Given the description of an element on the screen output the (x, y) to click on. 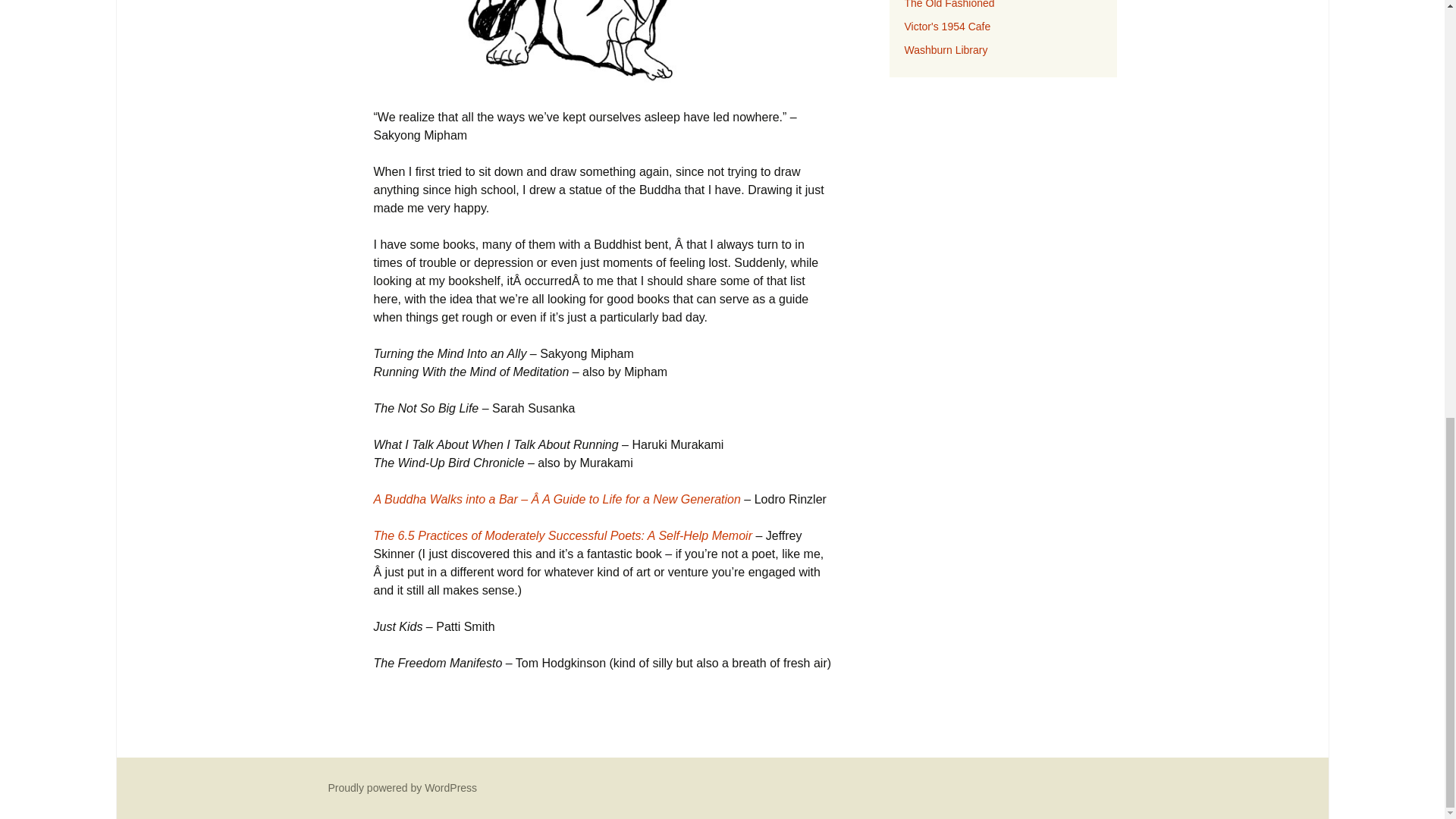
Washburn Library (945, 50)
Victor's 1954 Cafe (947, 26)
The Old Fashioned (949, 4)
Proudly powered by WordPress (402, 787)
JoyfulBuddha (602, 45)
